Given the description of an element on the screen output the (x, y) to click on. 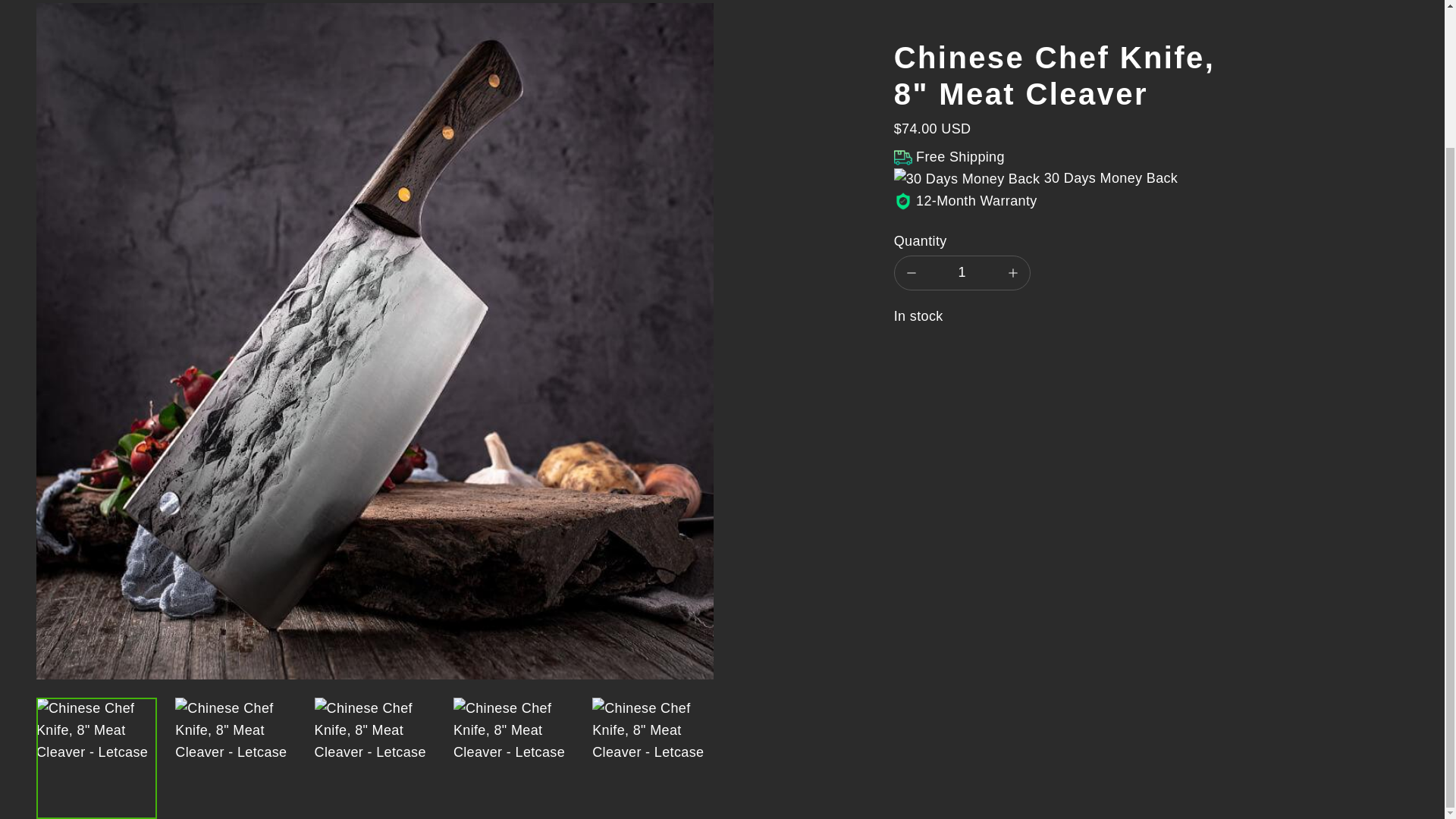
1 (961, 272)
